Given the description of an element on the screen output the (x, y) to click on. 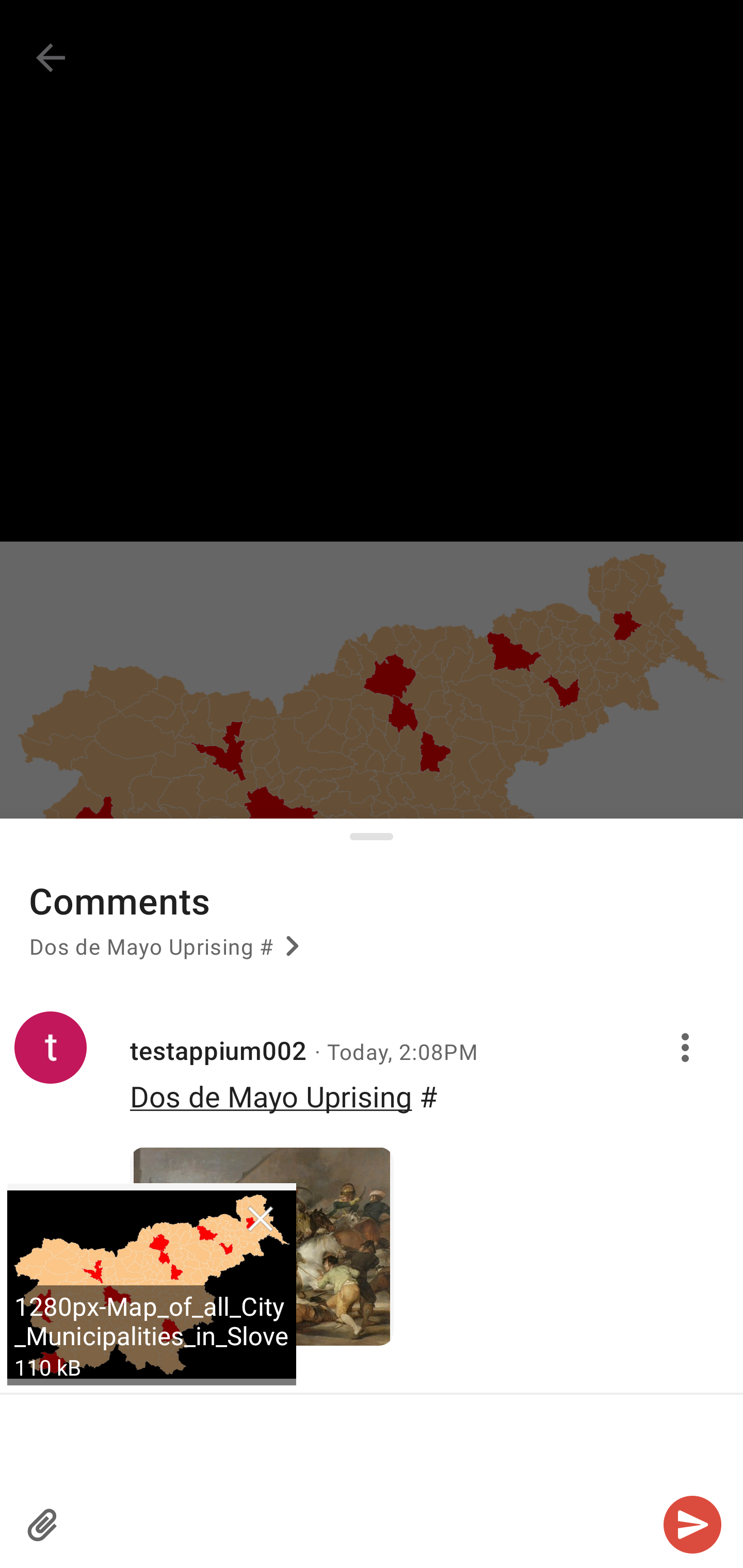
Dos de Mayo Uprising # (167, 953)
More options (688, 1047)
Remove attachment (259, 1219)
Attachment (43, 1524)
Submit (692, 1524)
